Given the description of an element on the screen output the (x, y) to click on. 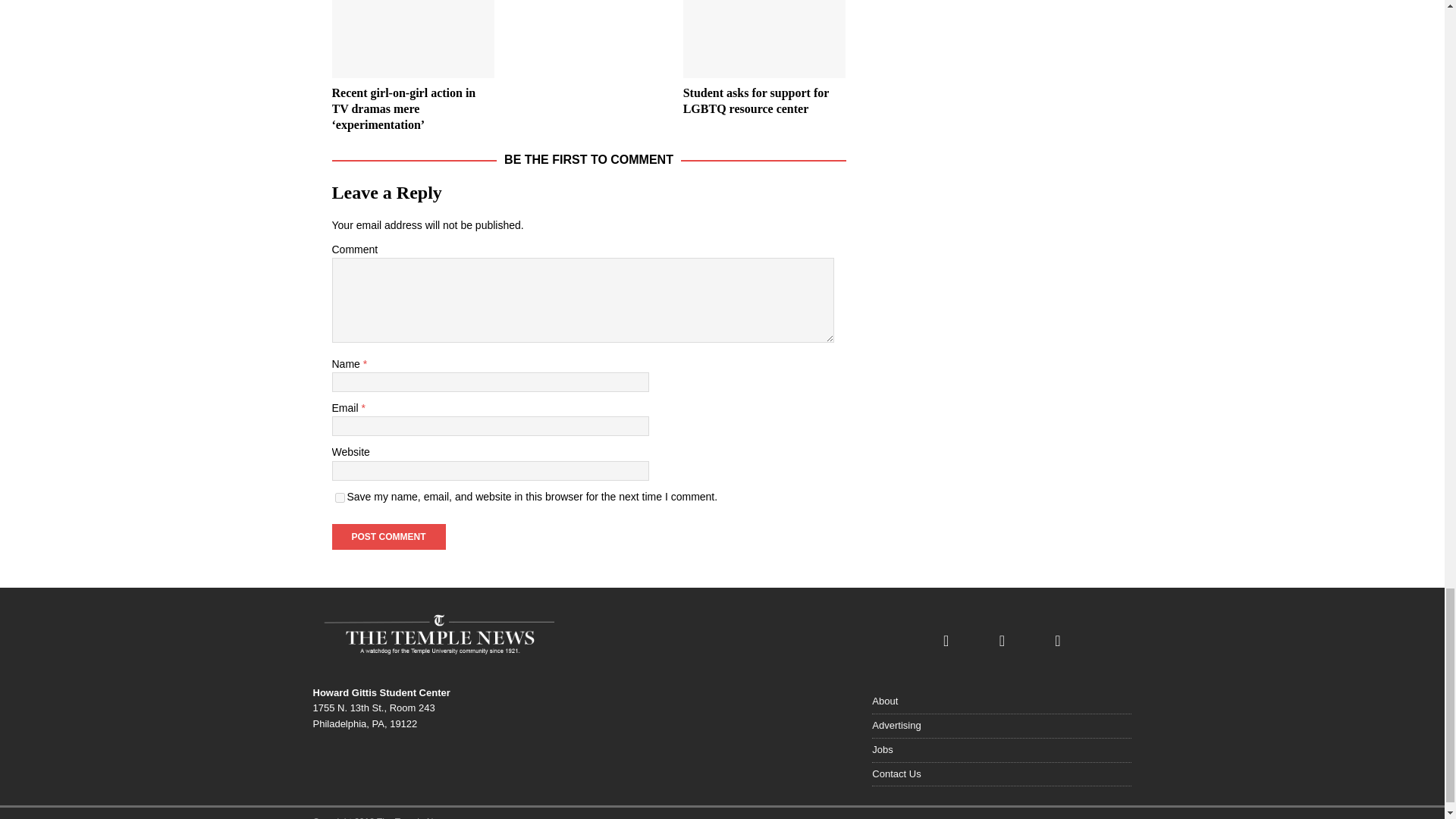
yes (339, 497)
Post Comment (388, 536)
